Given the description of an element on the screen output the (x, y) to click on. 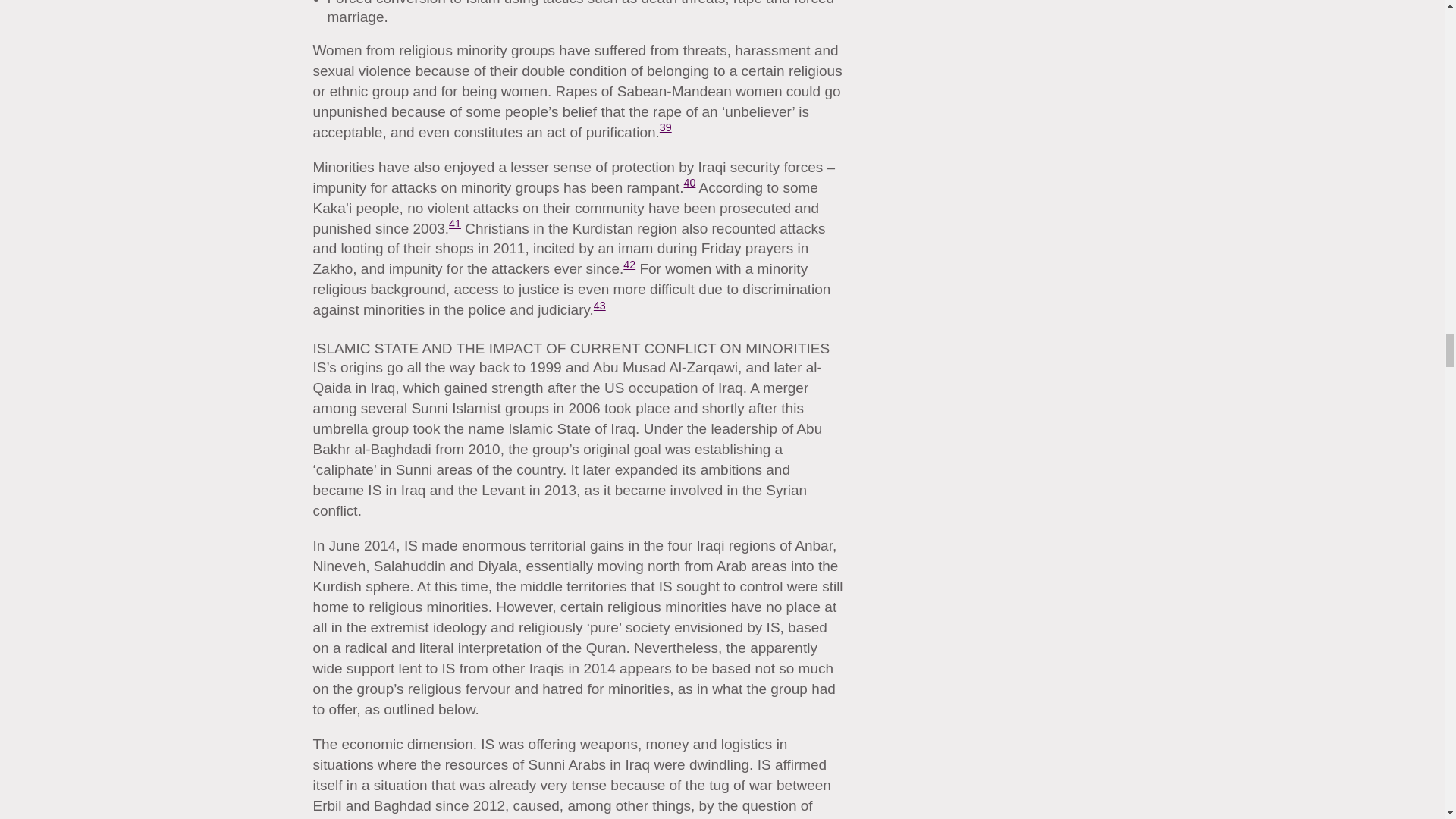
41 (454, 223)
40 (688, 182)
39 (665, 127)
